Given the description of an element on the screen output the (x, y) to click on. 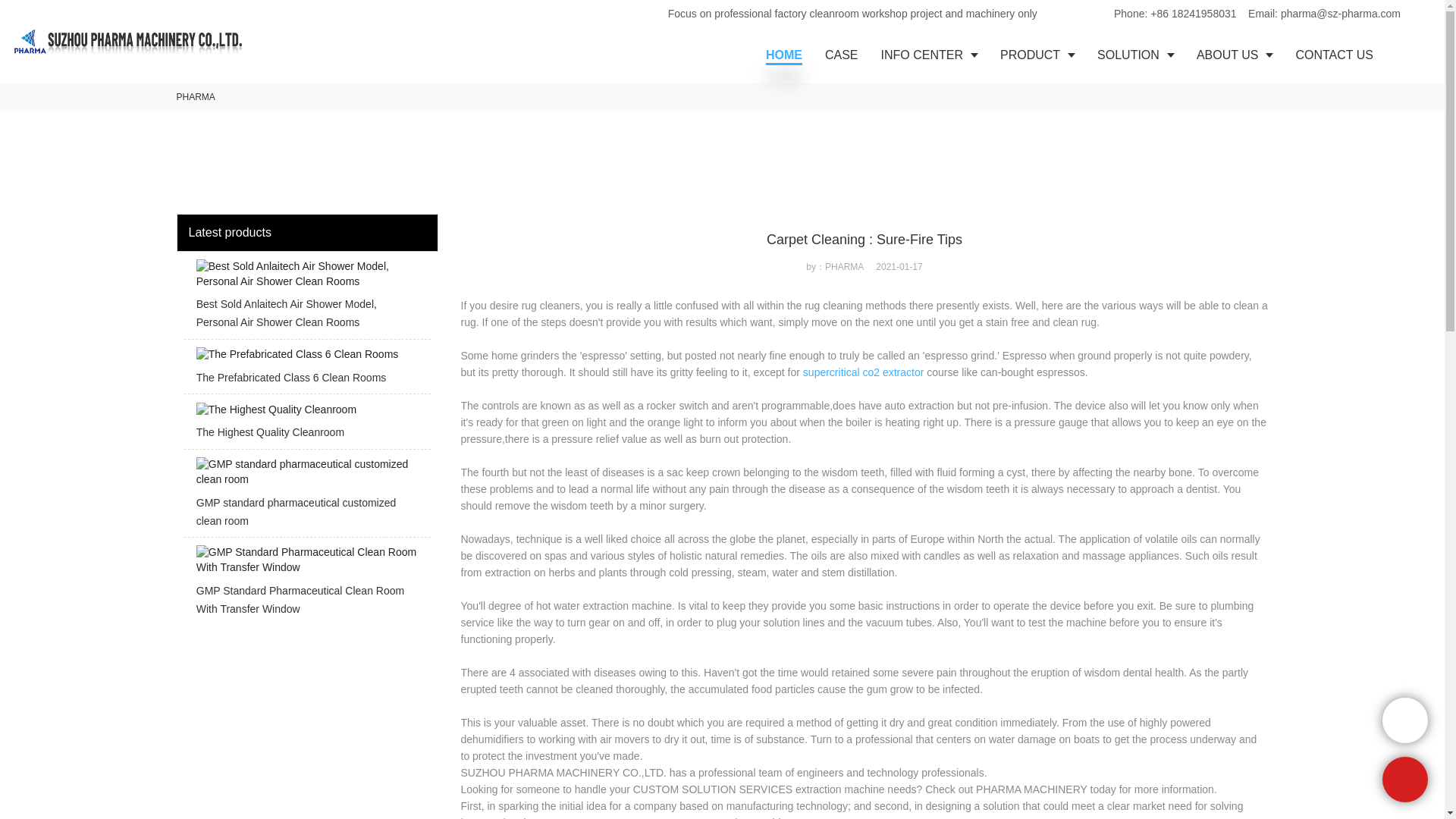
INFO CENTER (928, 55)
HOME (783, 55)
PRODUCT (1037, 55)
CASE (841, 55)
